Given the description of an element on the screen output the (x, y) to click on. 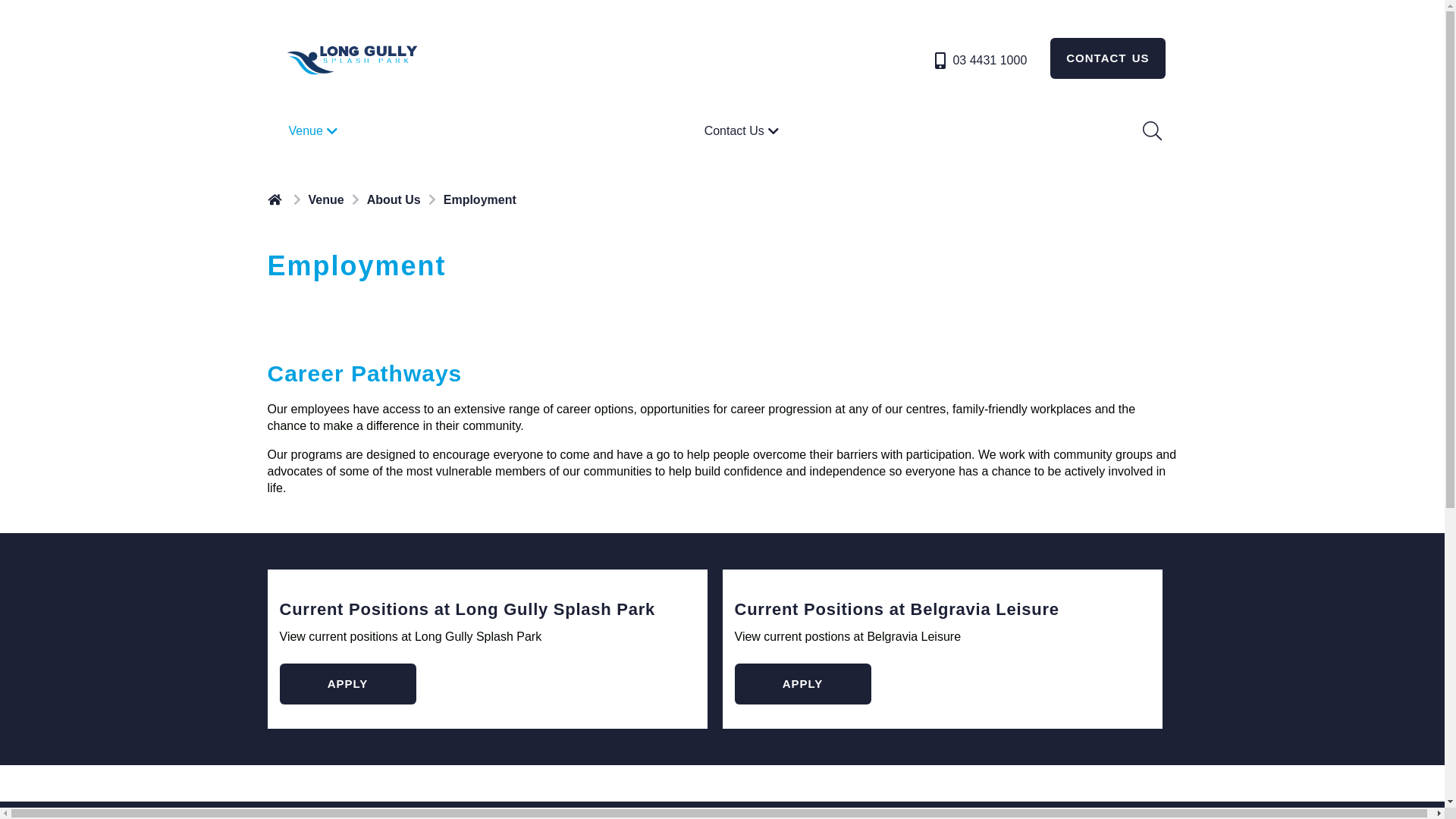
  Element type: text (275, 199)
APPLY Element type: text (802, 683)
03 4431 1000 Element type: text (978, 60)
Search Element type: text (1150, 131)
About Us Element type: text (393, 199)
Venue Element type: text (314, 130)
CONTACT US Element type: text (1107, 57)
Contact Us Element type: text (743, 130)
APPLY Element type: text (347, 683)
